Given the description of an element on the screen output the (x, y) to click on. 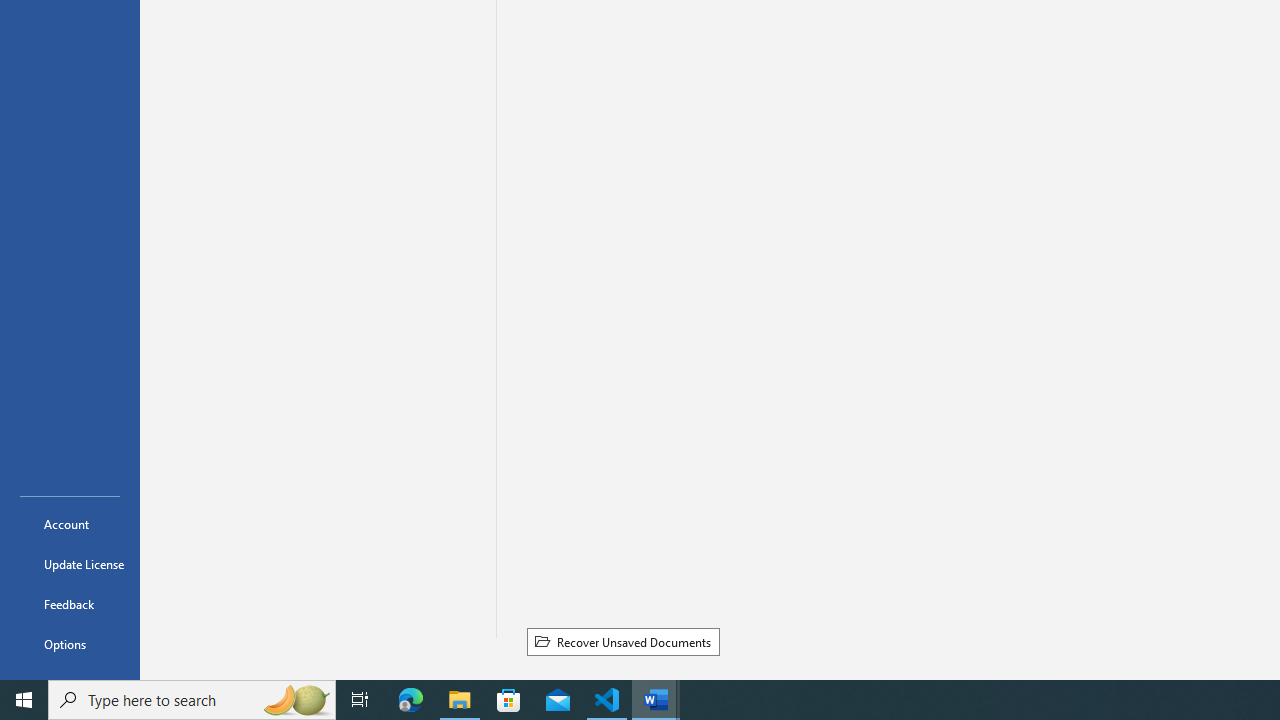
Update License (69, 563)
Account (69, 523)
Feedback (69, 603)
Options (69, 643)
Recover Unsaved Documents (623, 641)
